Given the description of an element on the screen output the (x, y) to click on. 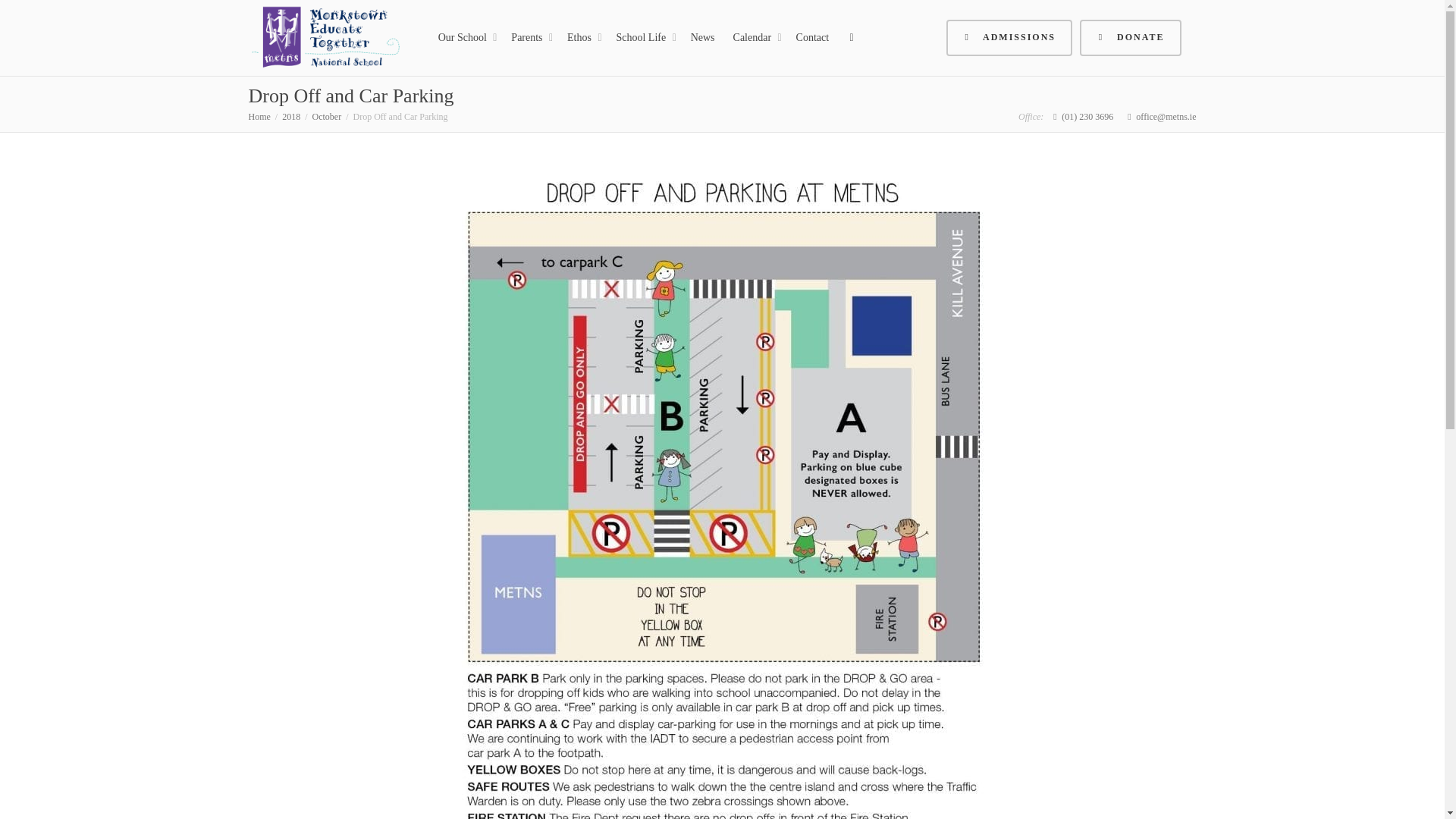
Monkstown ETNS (325, 37)
